Given the description of an element on the screen output the (x, y) to click on. 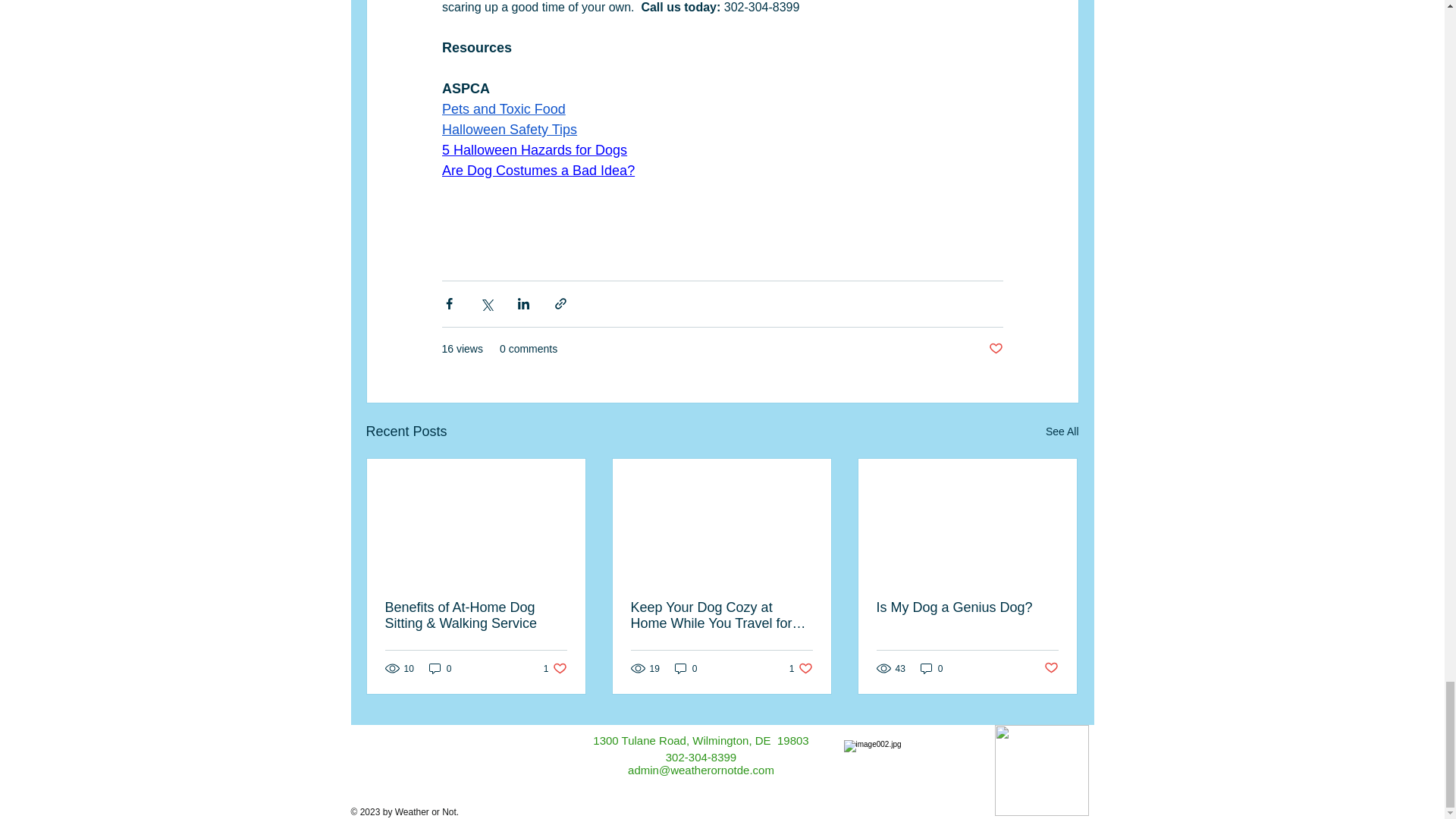
Pets and Toxic Food (502, 109)
Post not marked as liked (995, 349)
See All (1061, 431)
nappslogo.png (1041, 769)
5 Halloween Hazards for Dogs (533, 150)
0 (440, 667)
Are Dog Costumes a Bad Idea? (537, 170)
Halloween Safety Tips (508, 129)
